Given the description of an element on the screen output the (x, y) to click on. 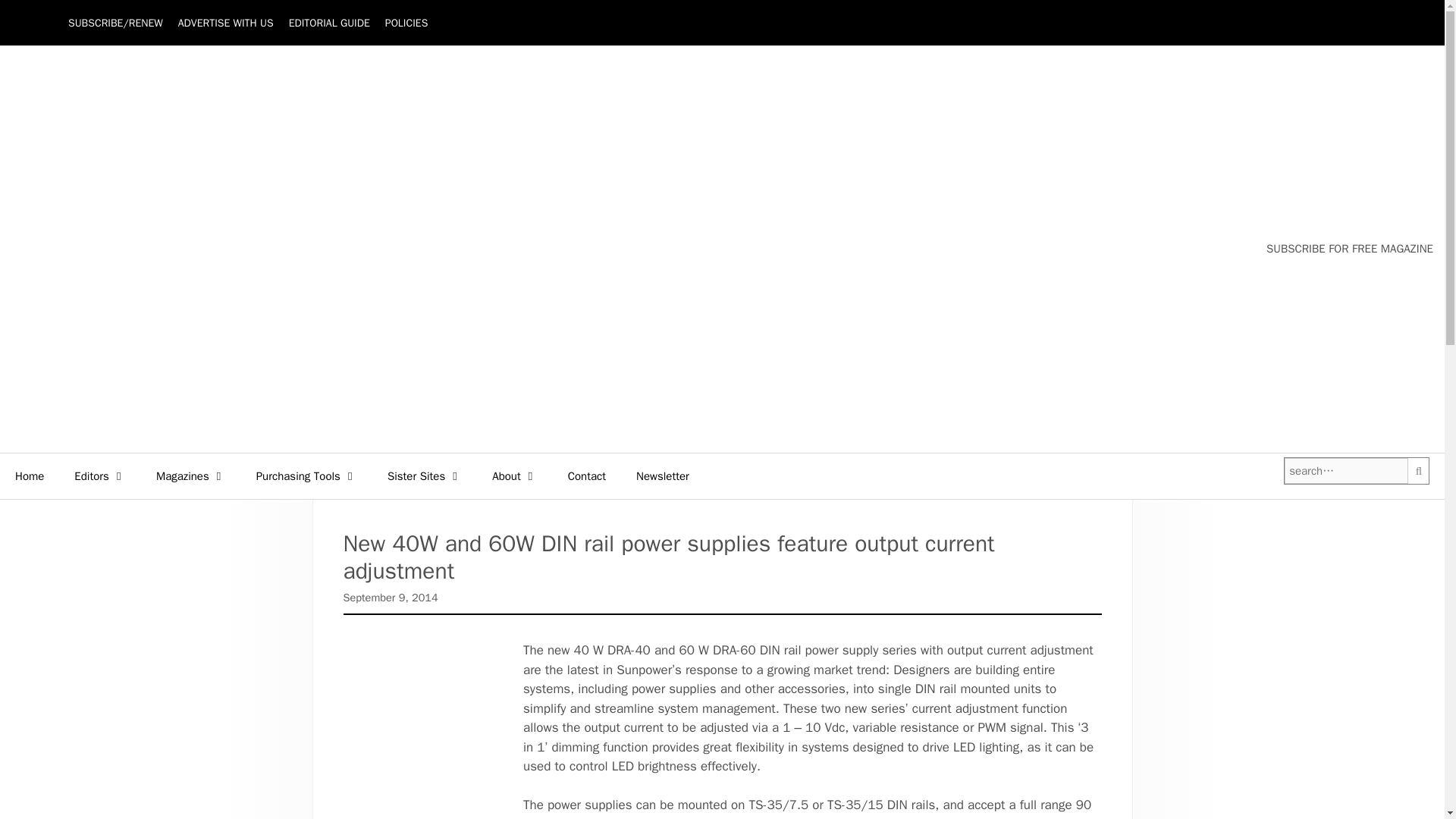
Home (29, 475)
About (514, 475)
Newsletter (662, 475)
Editors (100, 475)
Search for: (1345, 470)
ADVERTISE WITH US (225, 22)
Purchasing Tools (306, 475)
Magazines (191, 475)
SUBSCRIBE FOR FREE MAGAZINE (1349, 248)
Contact (587, 475)
POLICIES (406, 22)
Sister Sites (424, 475)
EDITORIAL GUIDE (328, 22)
